Given the description of an element on the screen output the (x, y) to click on. 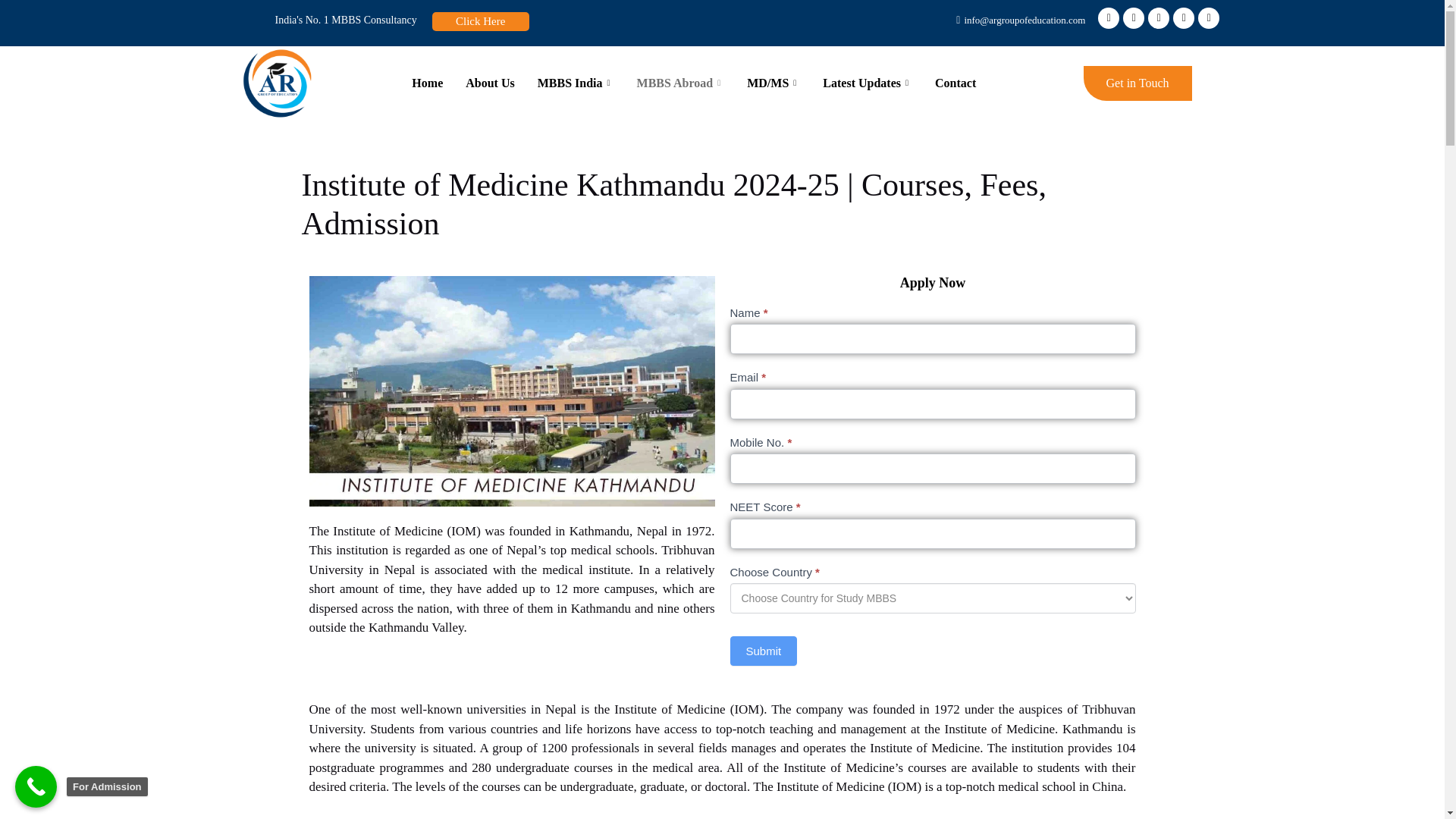
About Us (489, 82)
Click Here (480, 21)
Home (427, 82)
MBBS India (575, 82)
